Given the description of an element on the screen output the (x, y) to click on. 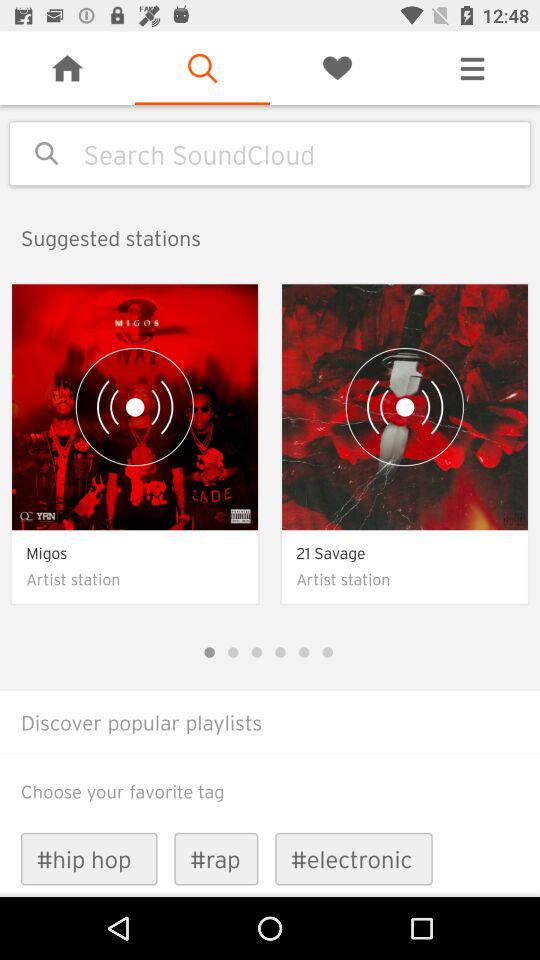
tap the item above the choose your favorite icon (270, 753)
